Given the description of an element on the screen output the (x, y) to click on. 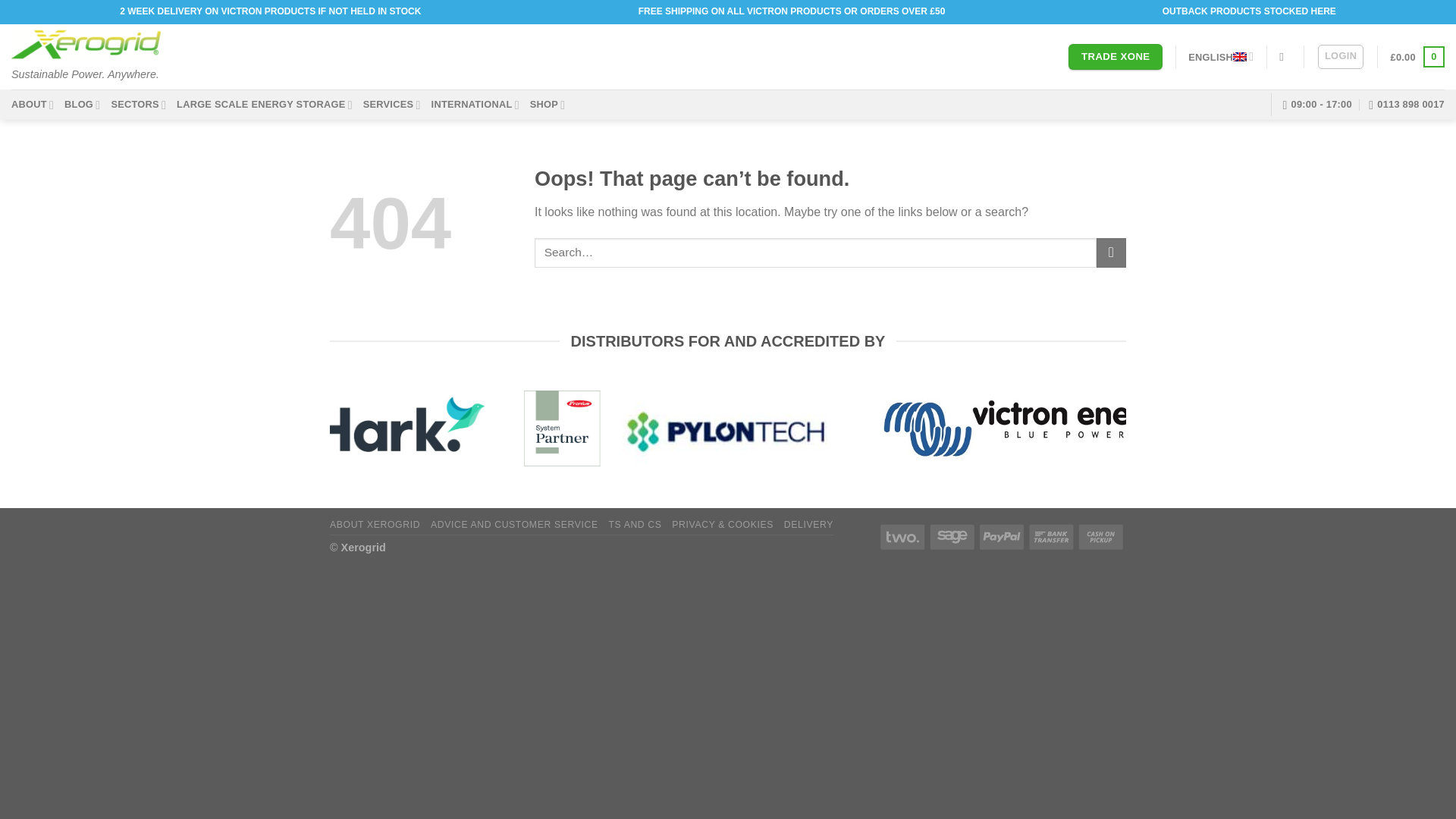
09:00 - 17:00  (1317, 104)
Fronius logo (561, 428)
LARGE SCALE ENERGY STORAGE (264, 104)
TRADE XONE (1114, 56)
SERVICES (391, 104)
Cart (1417, 56)
SECTORS (137, 104)
0113 898 0017 (1406, 104)
ABOUT (32, 104)
BLOG (82, 104)
LOGIN (1339, 56)
Xerogrid - Sustainable Power. Anywhere. (87, 42)
ENGLISH (1220, 56)
Fronius logo (561, 428)
